Given the description of an element on the screen output the (x, y) to click on. 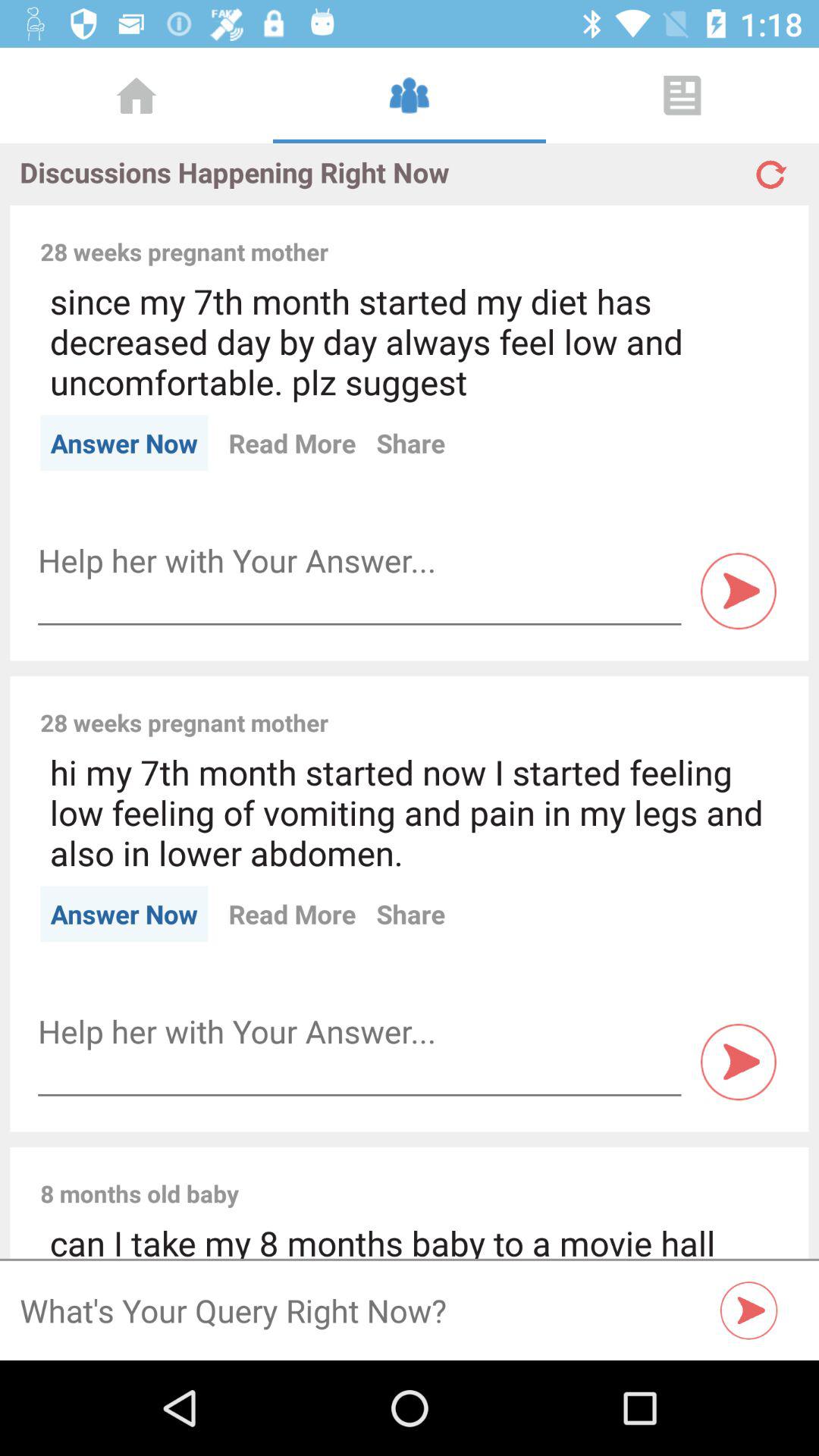
send (738, 1061)
